Given the description of an element on the screen output the (x, y) to click on. 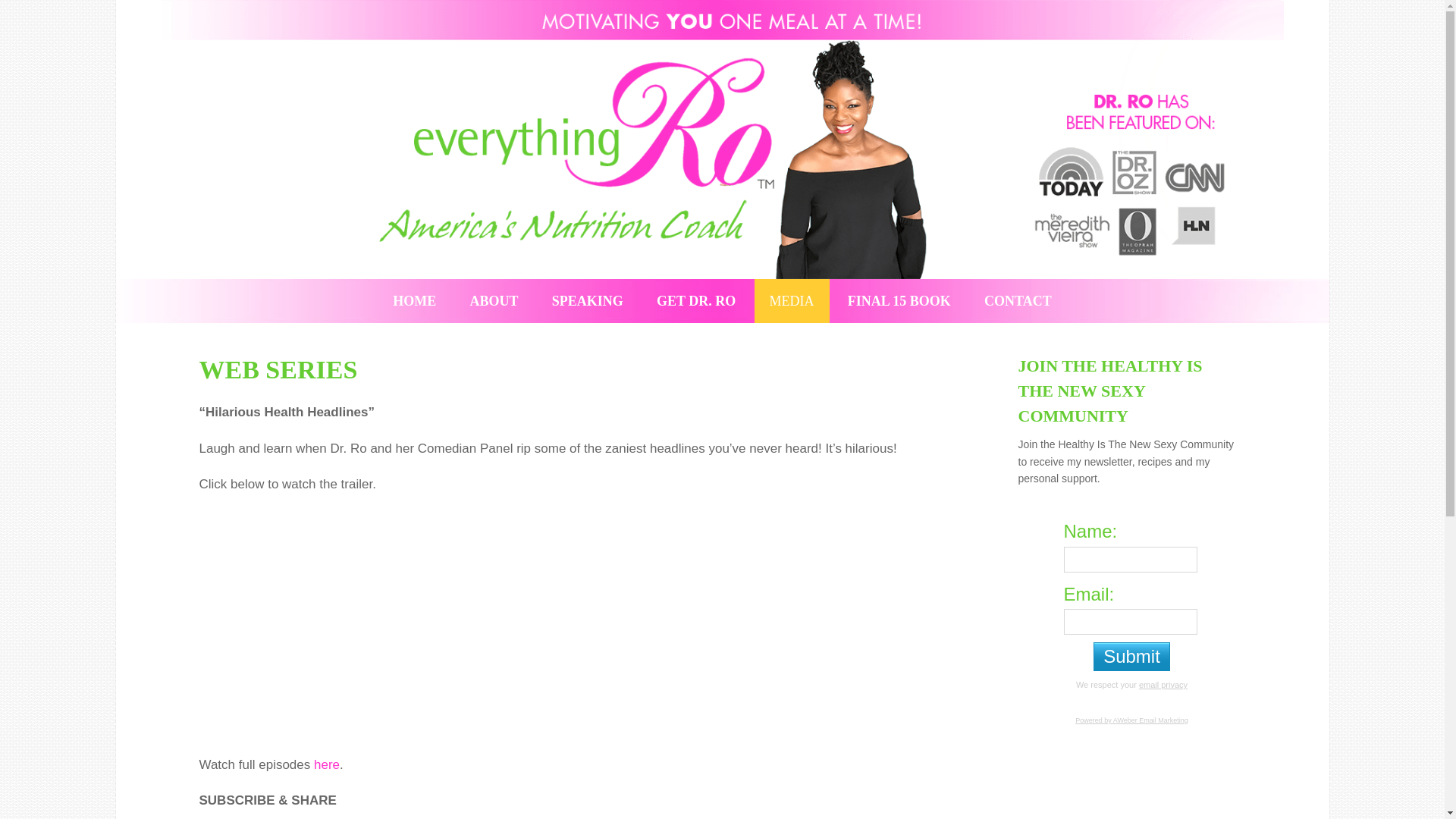
AWeber Email Marketing (1131, 719)
GET DR. RO (696, 300)
Submit (1131, 656)
CONTACT (1018, 300)
ABOUT (494, 300)
SPEAKING (588, 300)
here (326, 764)
Submit (1131, 656)
HOME (414, 300)
